Given the description of an element on the screen output the (x, y) to click on. 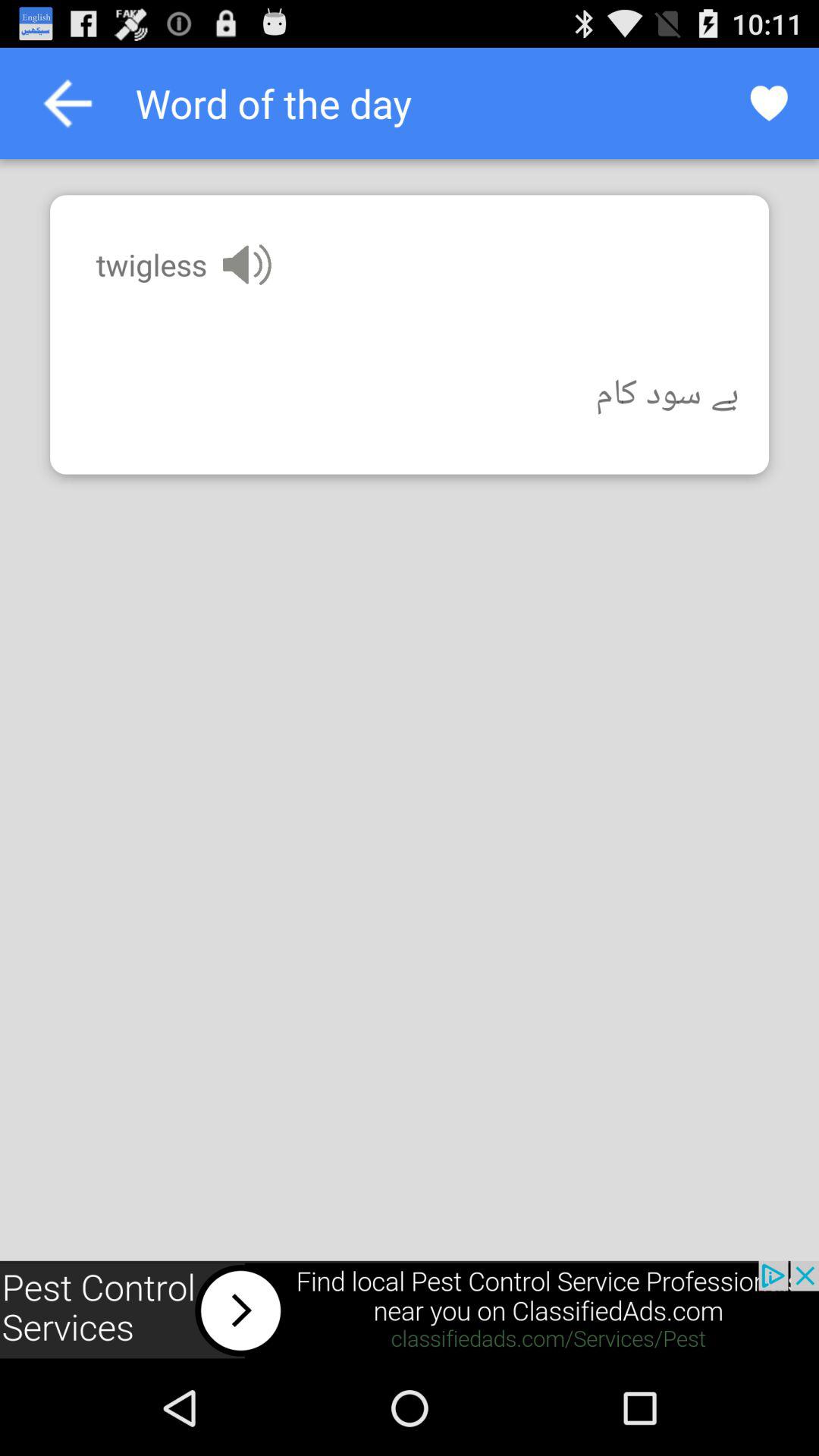
go to rating (769, 103)
